Given the description of an element on the screen output the (x, y) to click on. 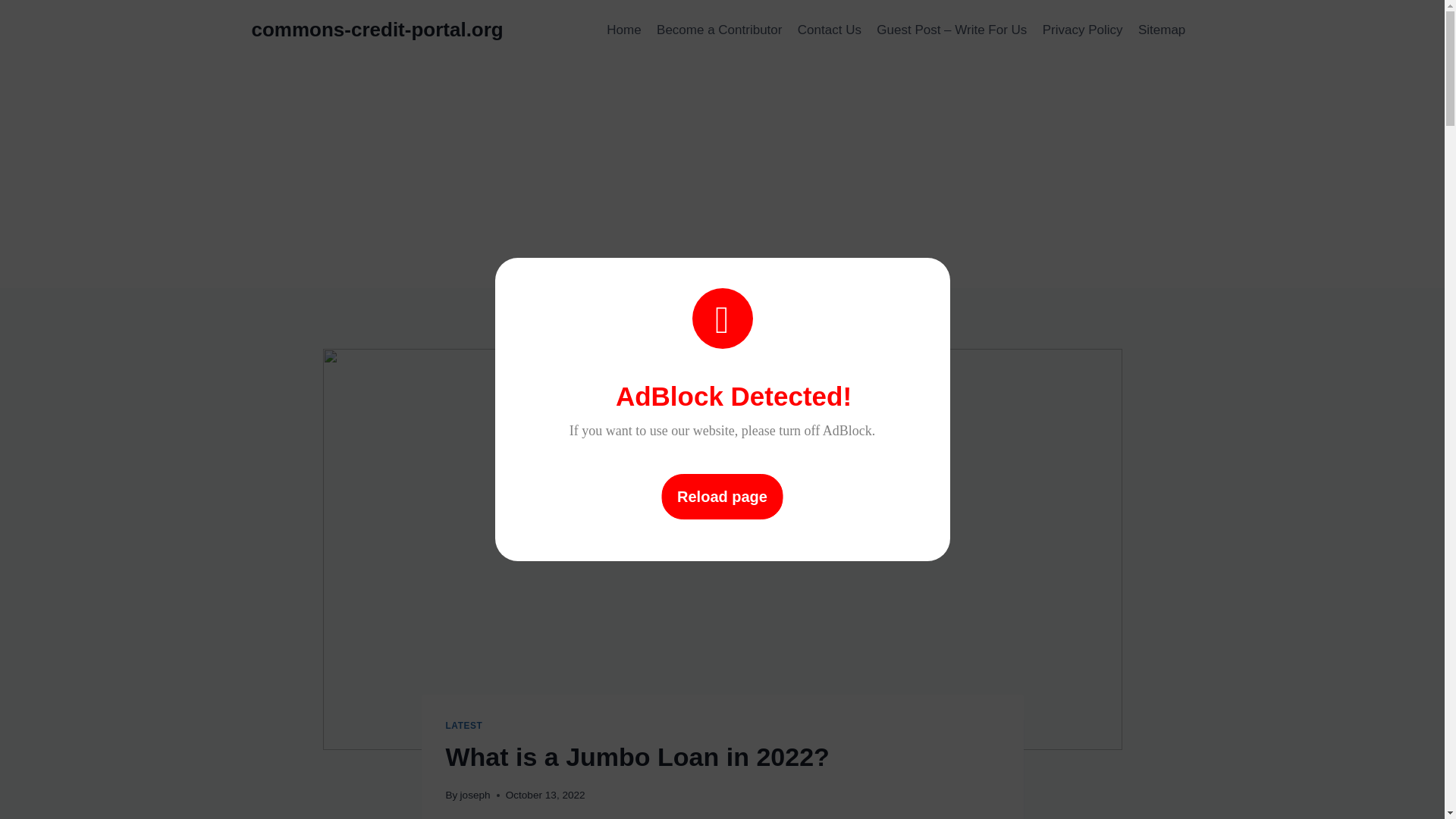
Home (623, 30)
Privacy Policy (1083, 30)
Sitemap (1162, 30)
Become a Contributor (719, 30)
joseph (475, 794)
Contact Us (829, 30)
LATEST (464, 725)
Reload page (722, 496)
commons-credit-portal.org (377, 29)
